Given the description of an element on the screen output the (x, y) to click on. 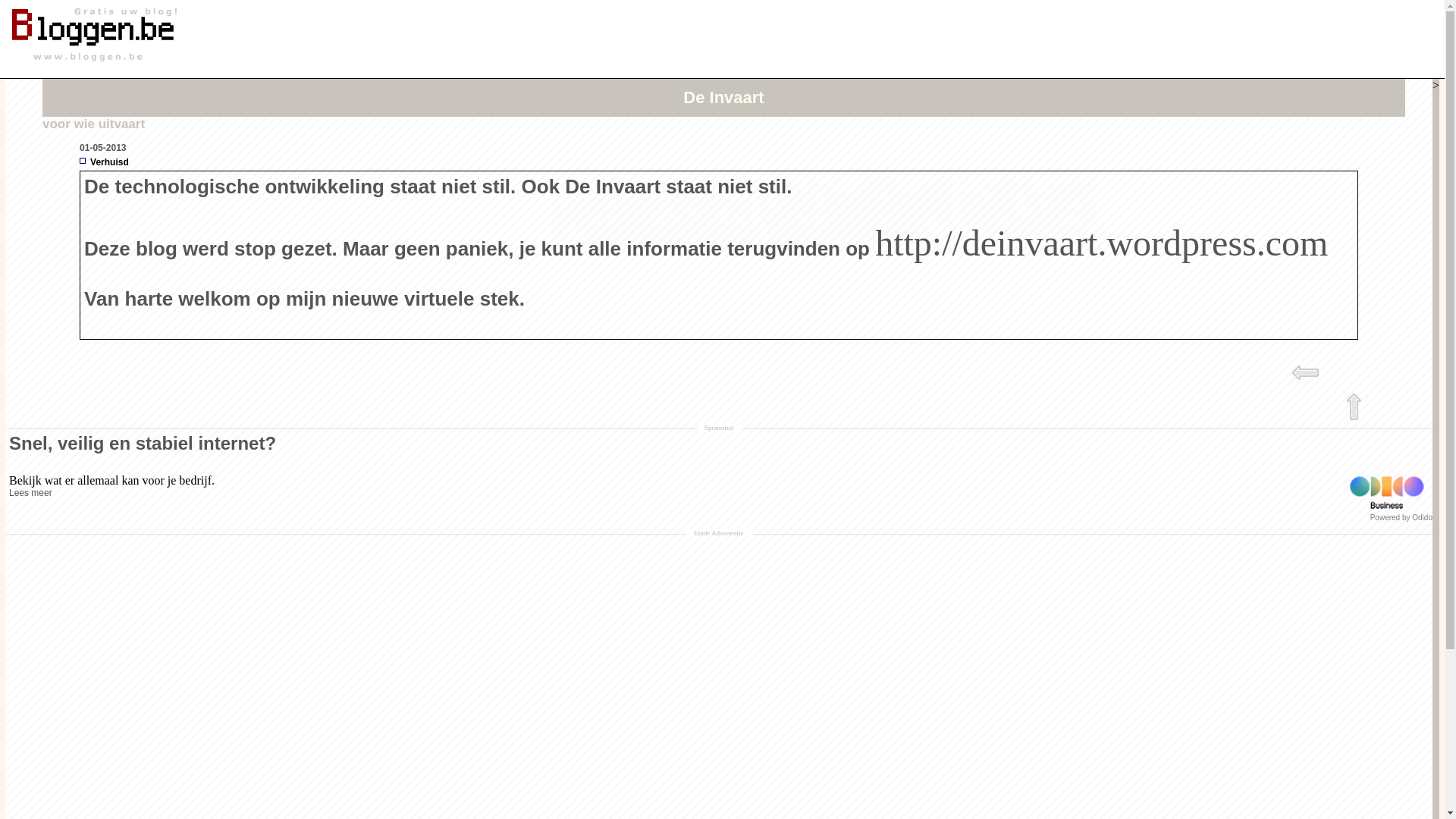
Powered by Odido Element type: text (1386, 517)
3rd party ad content Element type: hover (825, 124)
http://deinvaart.wordpress.com Element type: text (1101, 252)
Lees meer Element type: text (673, 492)
Snel, veilig en stabiel internet? Element type: text (718, 443)
